Given the description of an element on the screen output the (x, y) to click on. 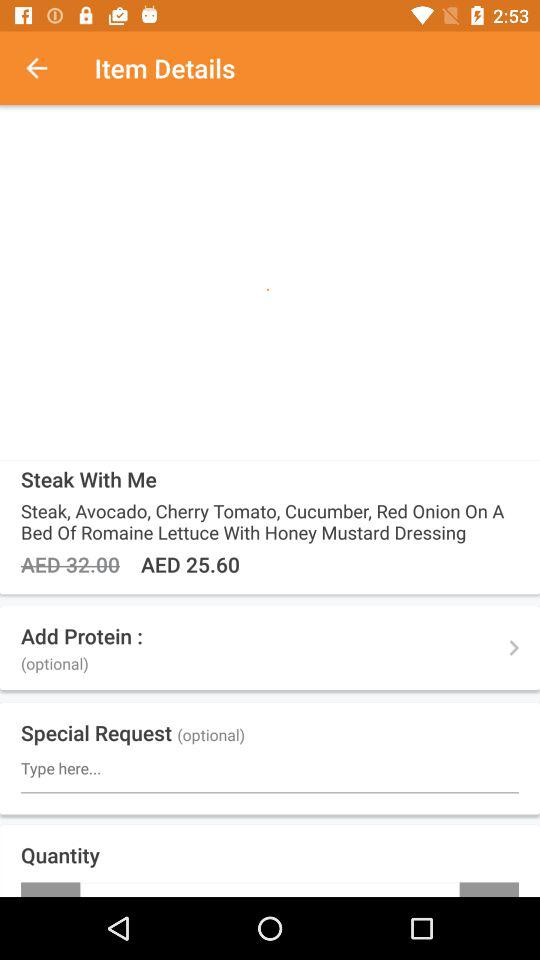
choose icon below quantity item (50, 889)
